Given the description of an element on the screen output the (x, y) to click on. 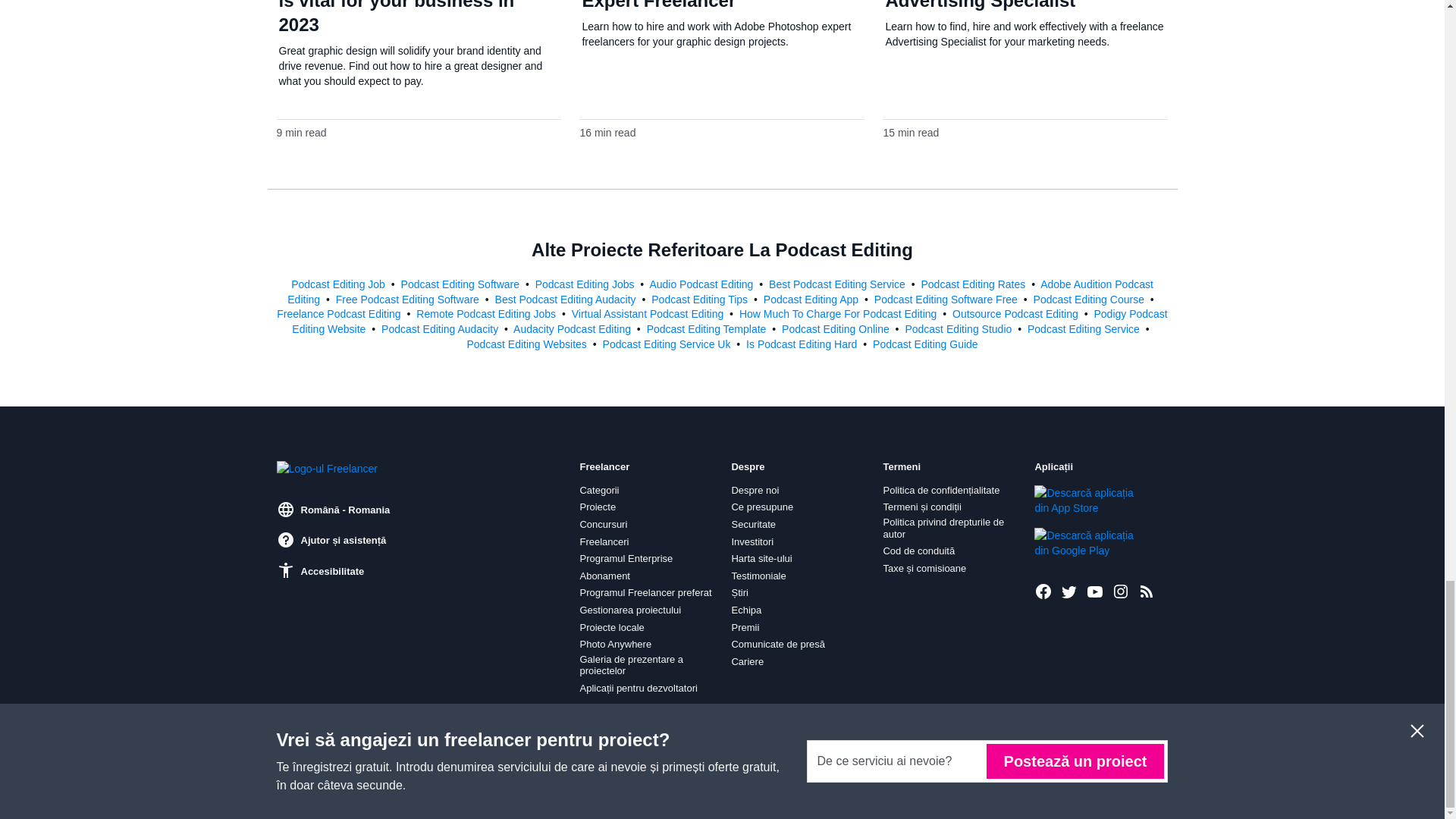
Freelancer pe Youtube (1094, 591)
Freelancer pe Instagram (1120, 591)
Freelancer pe Facebook (1042, 591)
Ultimele proiecte (1146, 591)
Freelancer pe Twitter (1068, 591)
